Given the description of an element on the screen output the (x, y) to click on. 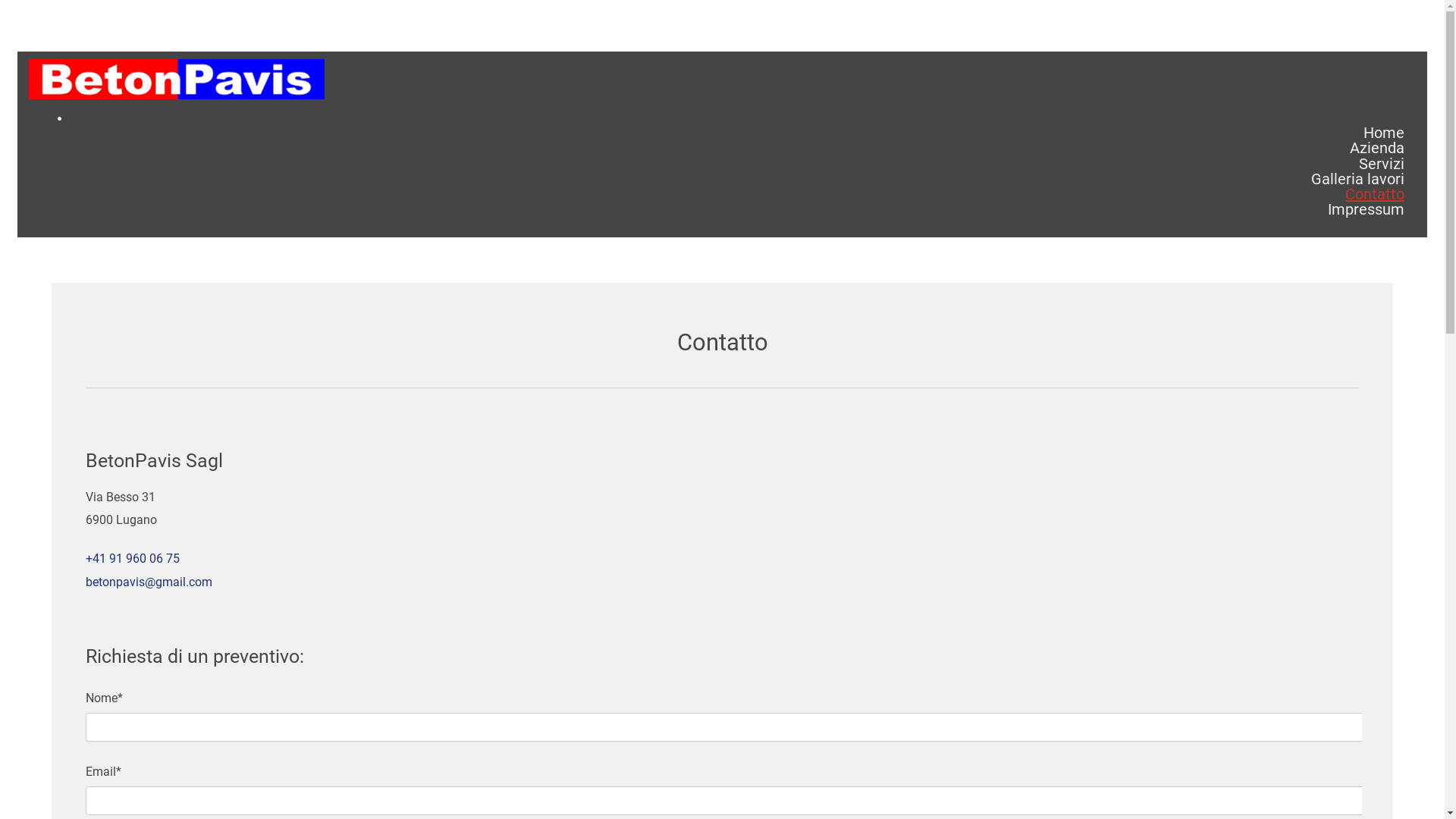
Close Menu Element type: hover (737, 118)
Home Element type: text (1383, 132)
Azienda Element type: text (1376, 147)
+41 91 960 06 75 Element type: text (132, 558)
Impressum Element type: text (1365, 209)
Galleria lavori Element type: text (1357, 178)
betonpavis@gmail.com Element type: text (148, 581)
Servizi Element type: text (1381, 163)
Contatto Element type: text (1374, 194)
